Given the description of an element on the screen output the (x, y) to click on. 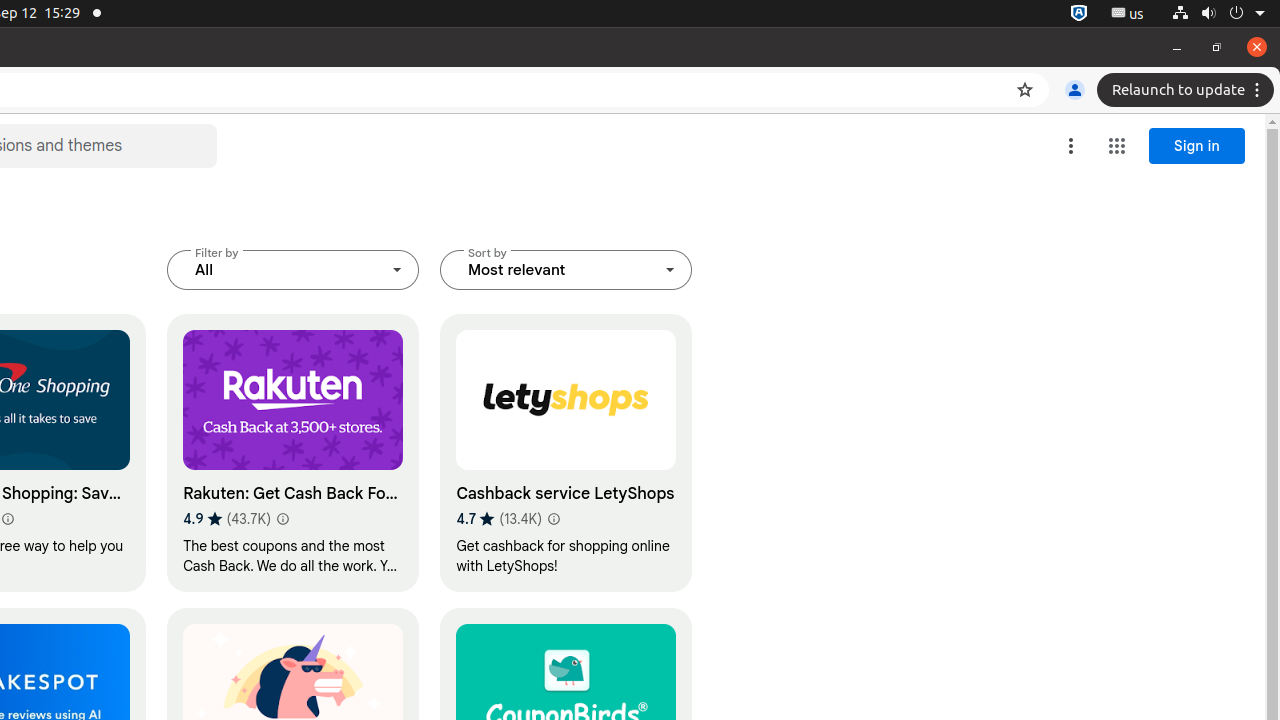
Sort by ​Most relevant Element type: combo-box (566, 270)
Bookmark this tab Element type: push-button (1025, 90)
Learn more about results and reviews "Capital One Shopping: Save Now" Element type: push-button (7, 519)
Learn more about results and reviews "Cashback service LetyShops" Element type: push-button (553, 519)
:1.72/StatusNotifierItem Element type: menu (1079, 13)
